Given the description of an element on the screen output the (x, y) to click on. 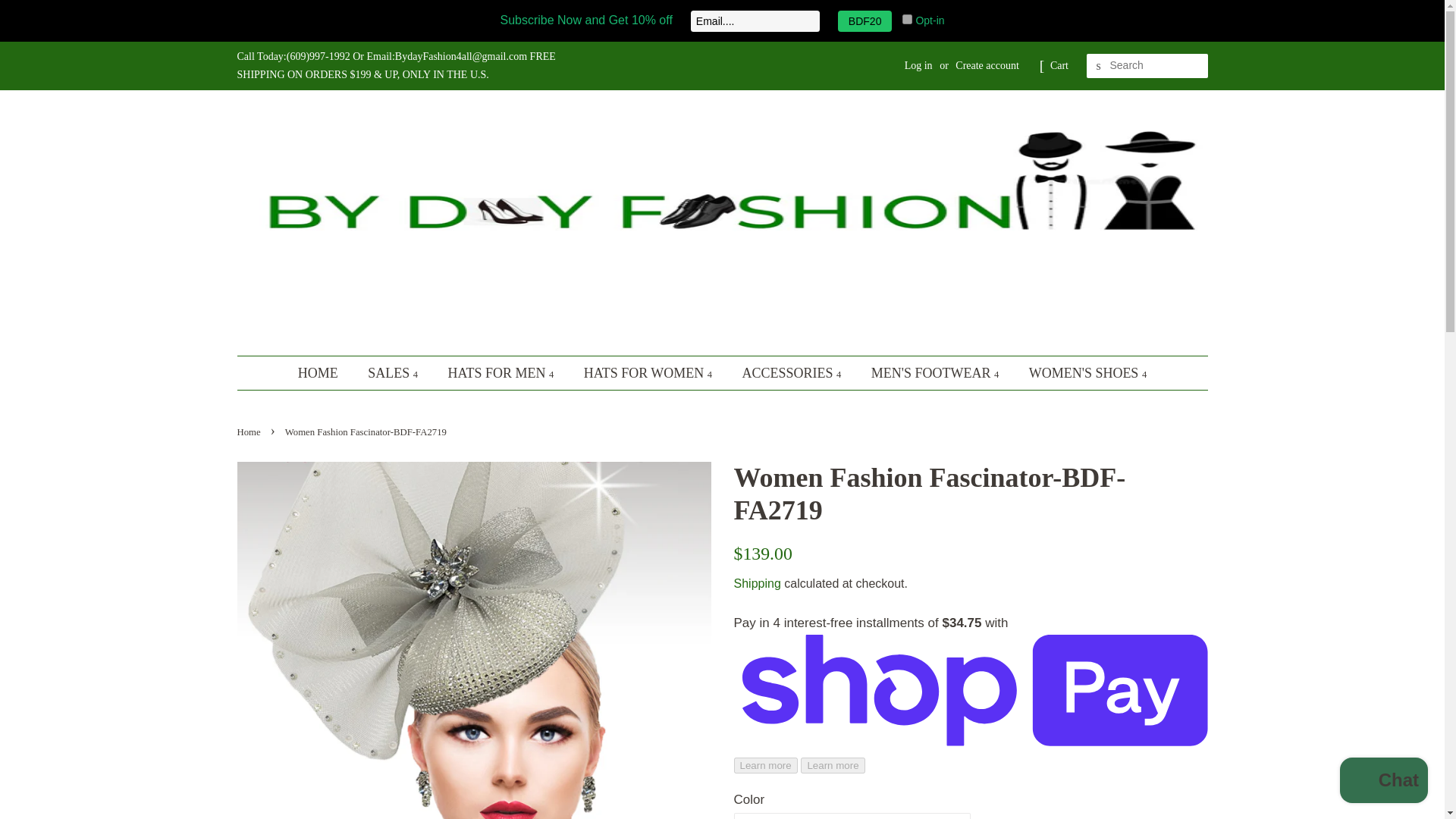
Shopify online store chat (1383, 781)
BDF20 (865, 20)
Back to the frontpage (249, 431)
Log in (918, 65)
on (907, 19)
SEARCH (1097, 66)
Cart (1058, 65)
Create account (987, 65)
